Given the description of an element on the screen output the (x, y) to click on. 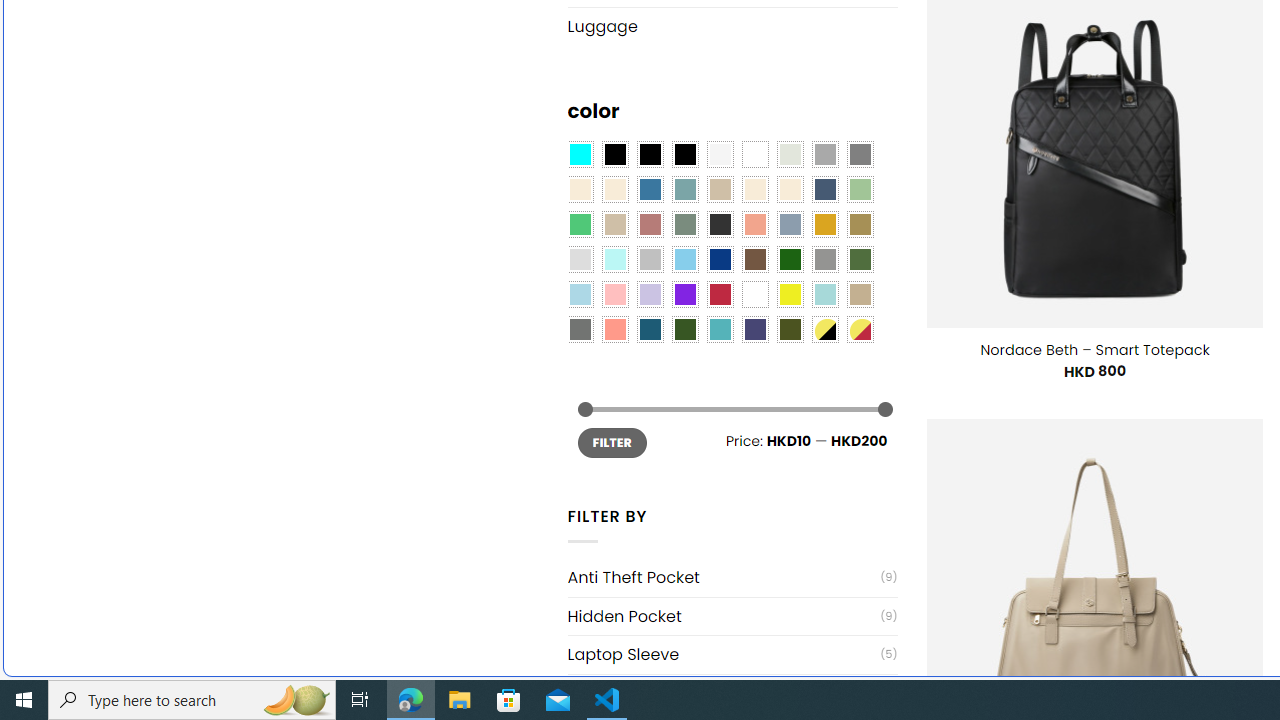
Mint (614, 259)
Yellow (789, 295)
Red (719, 295)
Light Taupe (614, 224)
Light Purple (650, 295)
Blue Sage (684, 190)
Dark Green (789, 259)
Aqua Blue (579, 154)
Black-Brown (684, 154)
Ash Gray (789, 154)
Sky Blue (684, 259)
Purple (684, 295)
Laptop Sleeve (723, 654)
